Given the description of an element on the screen output the (x, y) to click on. 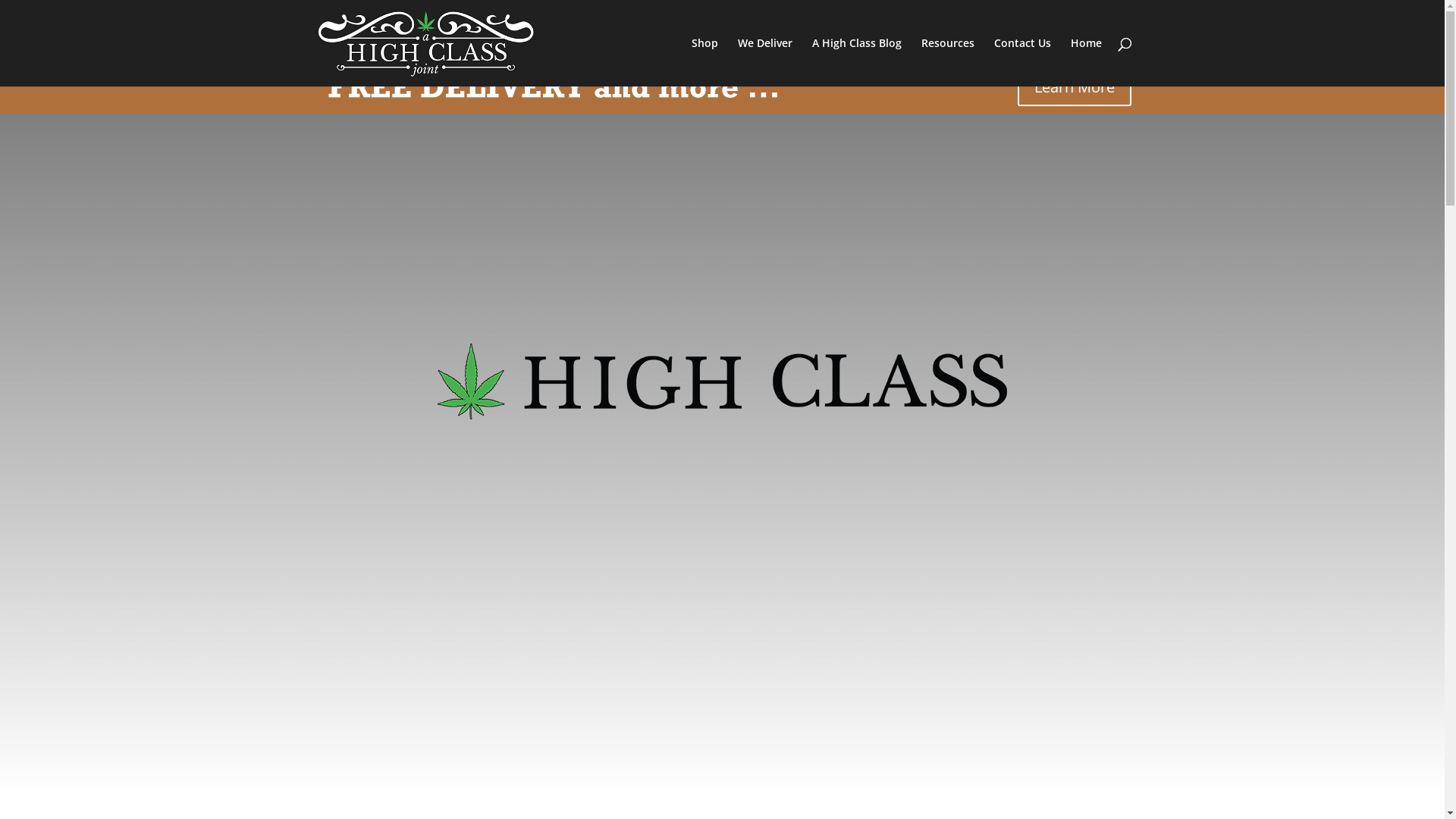
Home Element type: text (1085, 61)
Learn More Element type: text (1074, 87)
We Deliver Element type: text (764, 61)
Free_Delivery_1 Element type: hover (577, 87)
Short_Logo_1 Element type: hover (722, 381)
Shop Element type: text (704, 61)
Contact Us Element type: text (1021, 61)
A High Class Blog Element type: text (855, 61)
Resources Element type: text (946, 61)
